Given the description of an element on the screen output the (x, y) to click on. 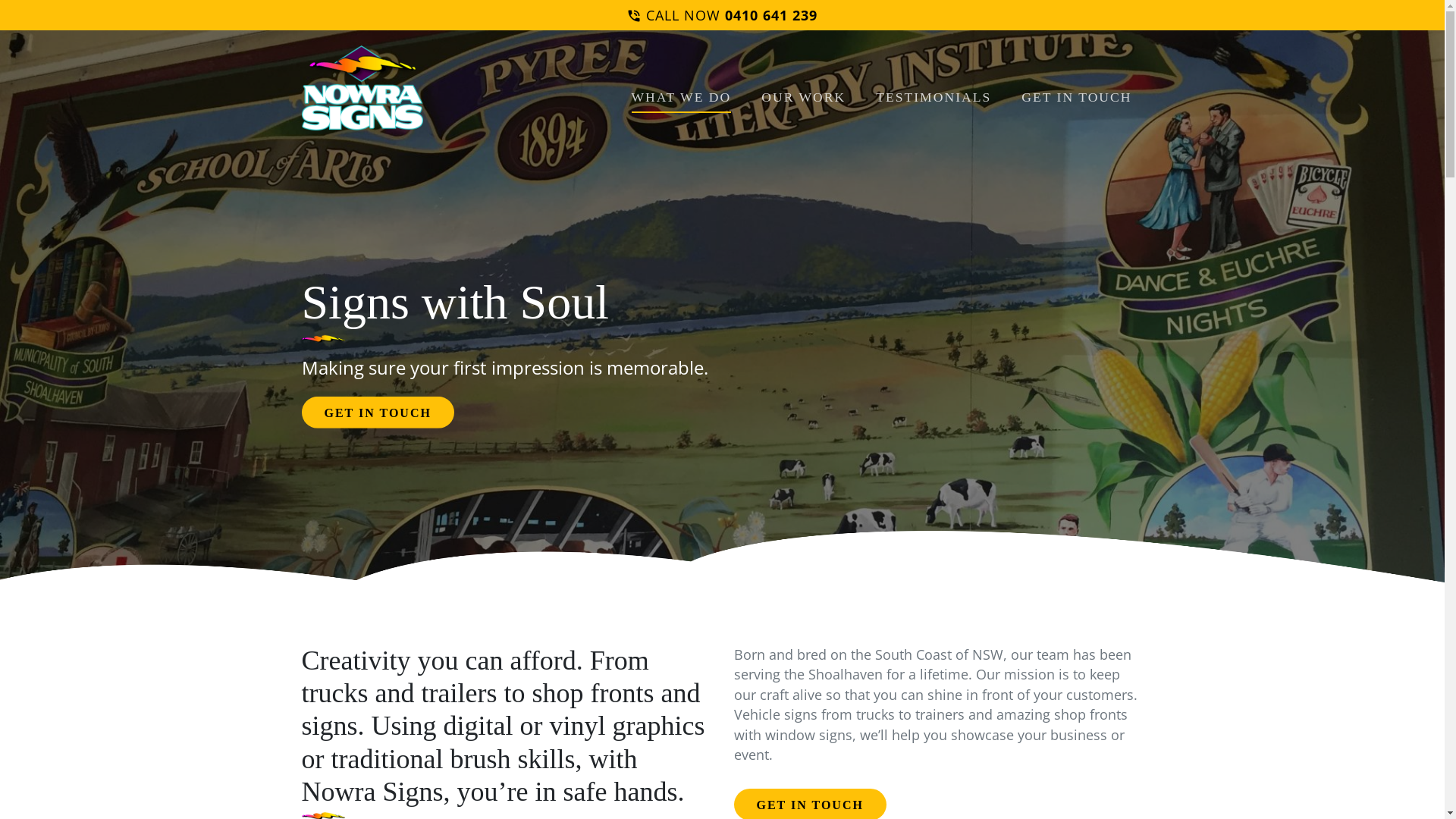
OUR WORK Element type: text (803, 87)
CALL NOW 0410 641 239 Element type: text (722, 15)
GET IN TOUCH Element type: text (1076, 87)
GET IN TOUCH Element type: text (377, 412)
WHAT WE DO Element type: text (680, 87)
TESTIMONIALS Element type: text (933, 87)
